Given the description of an element on the screen output the (x, y) to click on. 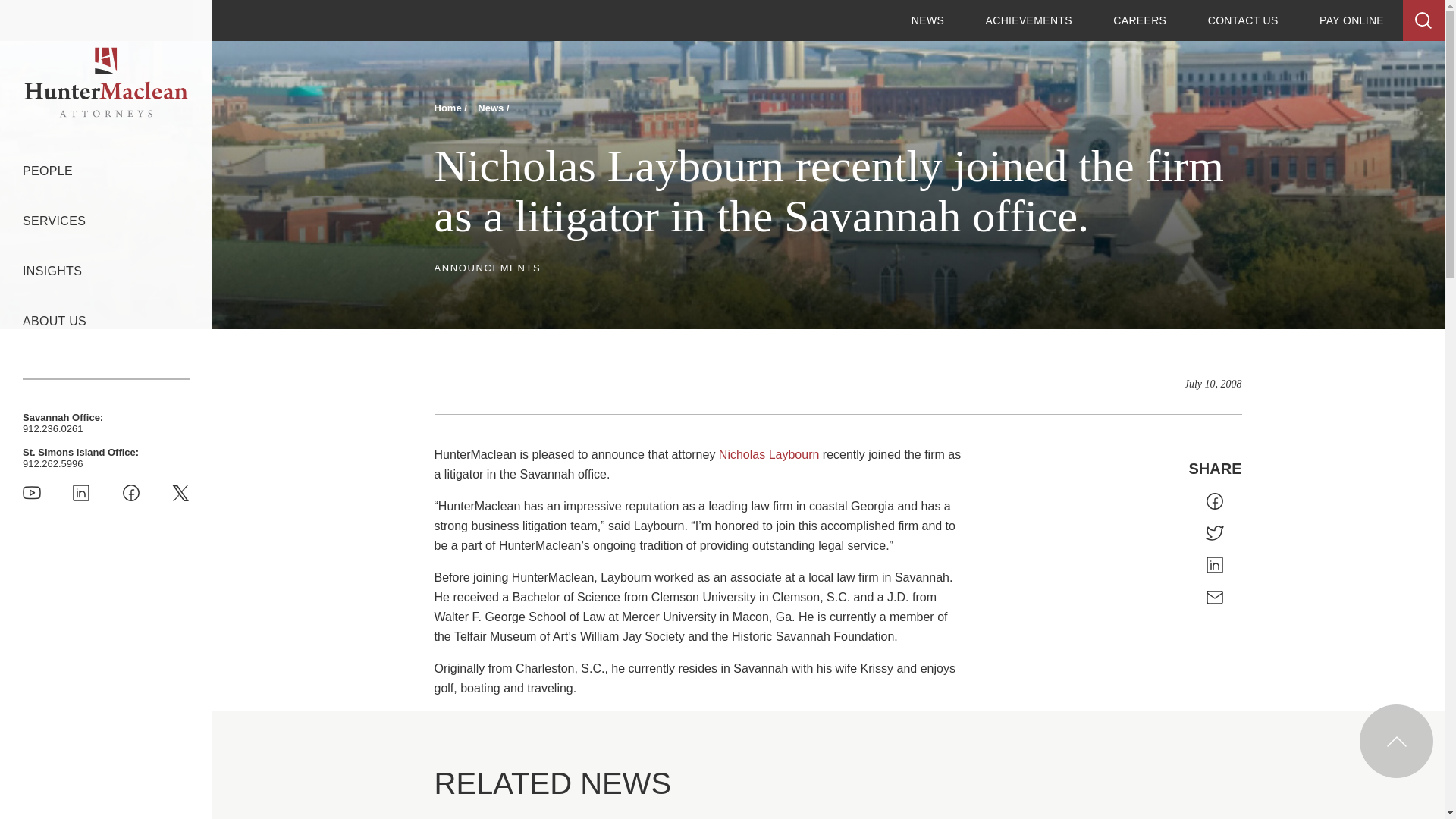
Share in email (1214, 597)
Share on Linkedin (1214, 565)
Home (448, 107)
HunterMaclean (106, 82)
ACHIEVEMENTS (1028, 20)
ABOUT US (54, 320)
News (491, 107)
Share on twitter (1214, 533)
SERVICES (54, 220)
CONTACT US (1243, 20)
ANNOUNCEMENTS (486, 267)
Nicholas Laybourn (769, 454)
PEOPLE (47, 170)
CAREERS (1139, 20)
PAY ONLINE (1351, 20)
